Given the description of an element on the screen output the (x, y) to click on. 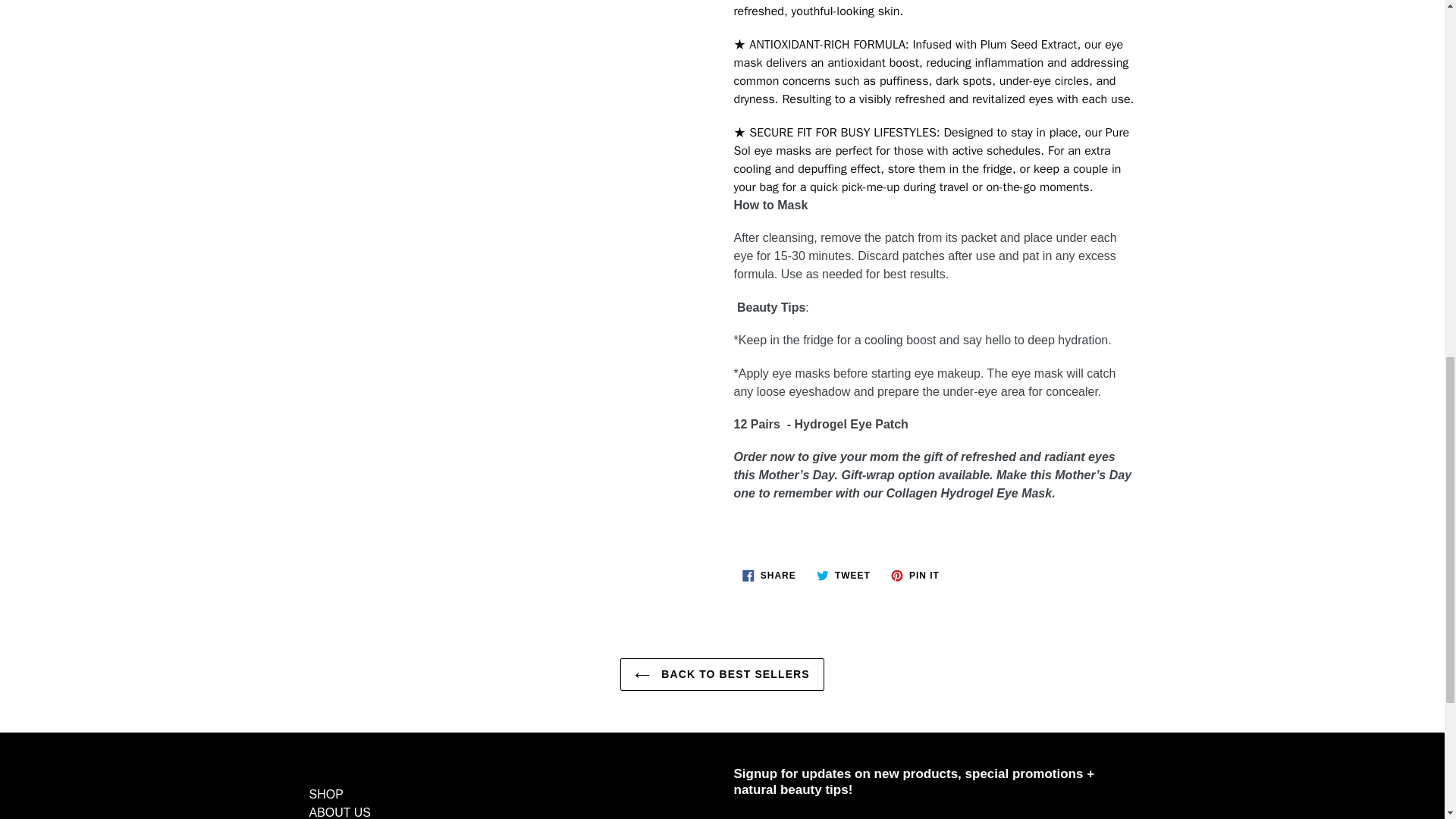
BACK TO BEST SELLERS (722, 674)
SHOP (843, 575)
